Given the description of an element on the screen output the (x, y) to click on. 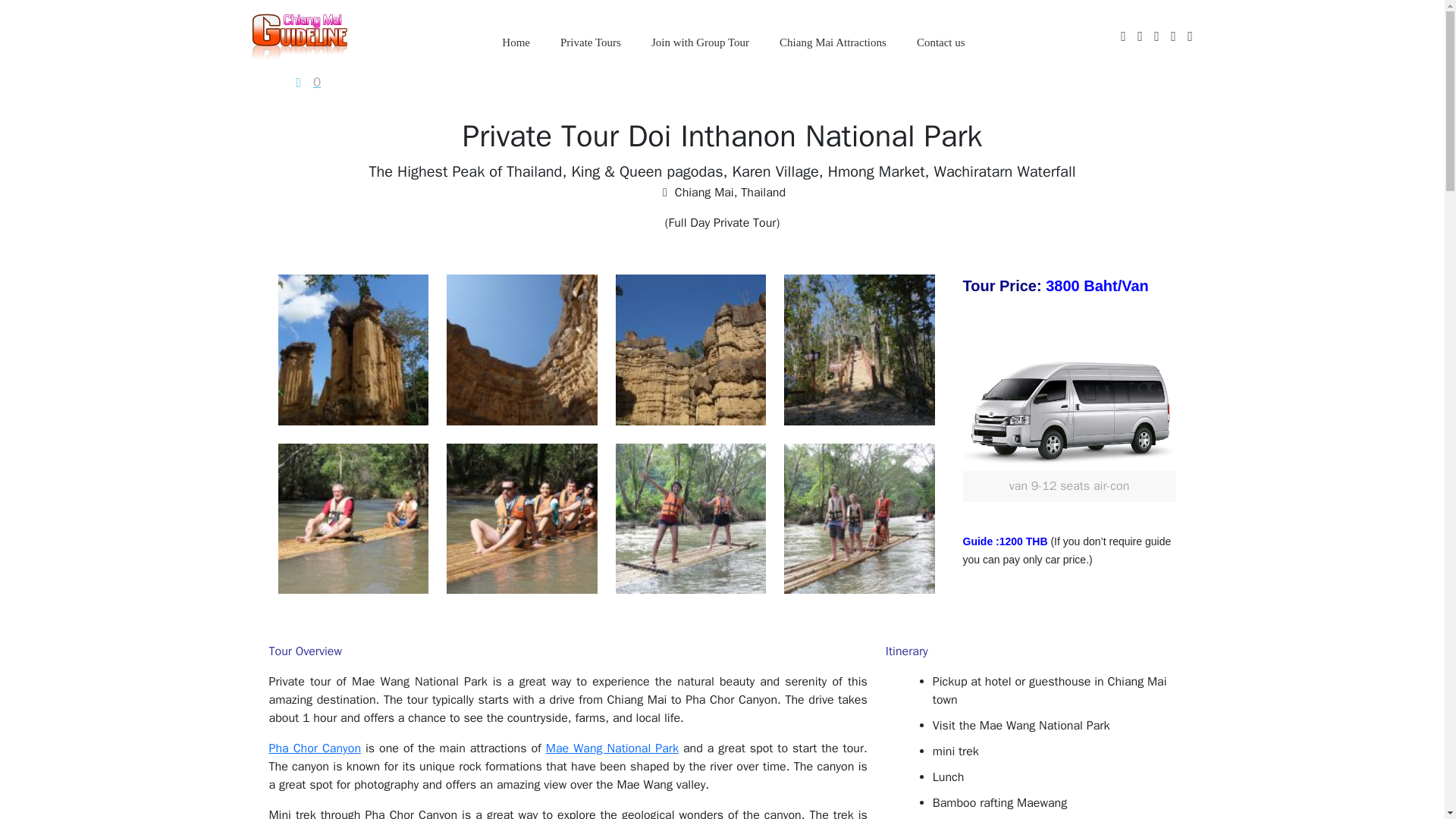
Mae Wang National Park (612, 748)
Home (515, 42)
Chiang Mai Attractions (832, 42)
0 (306, 82)
Pha Chor Canyon (314, 748)
Contact us (940, 42)
Join with Group Tour (700, 42)
Private Tours (590, 42)
Chiang Mai Guideline (299, 35)
